Given the description of an element on the screen output the (x, y) to click on. 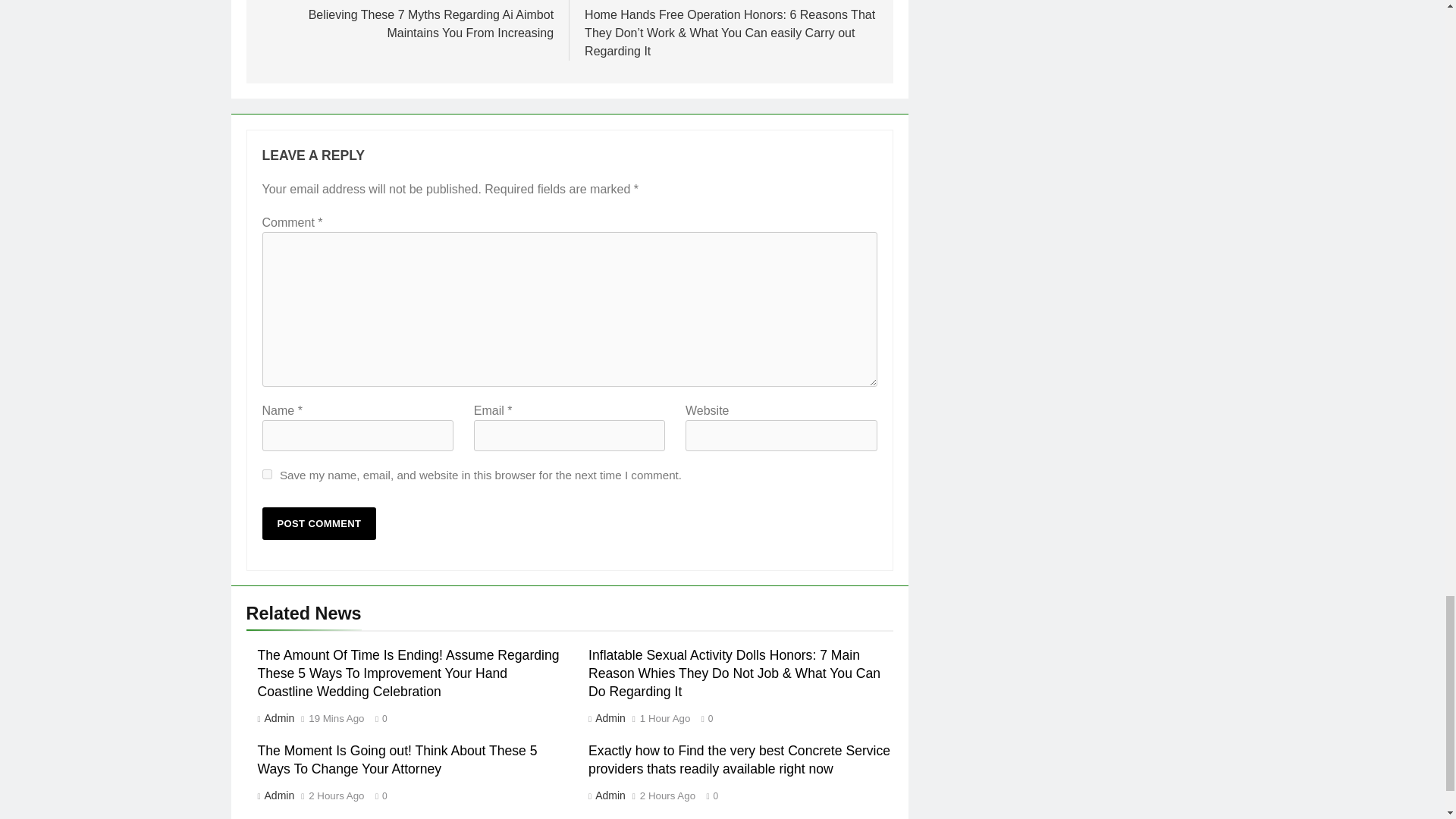
yes (267, 474)
Post Comment (319, 522)
